Given the description of an element on the screen output the (x, y) to click on. 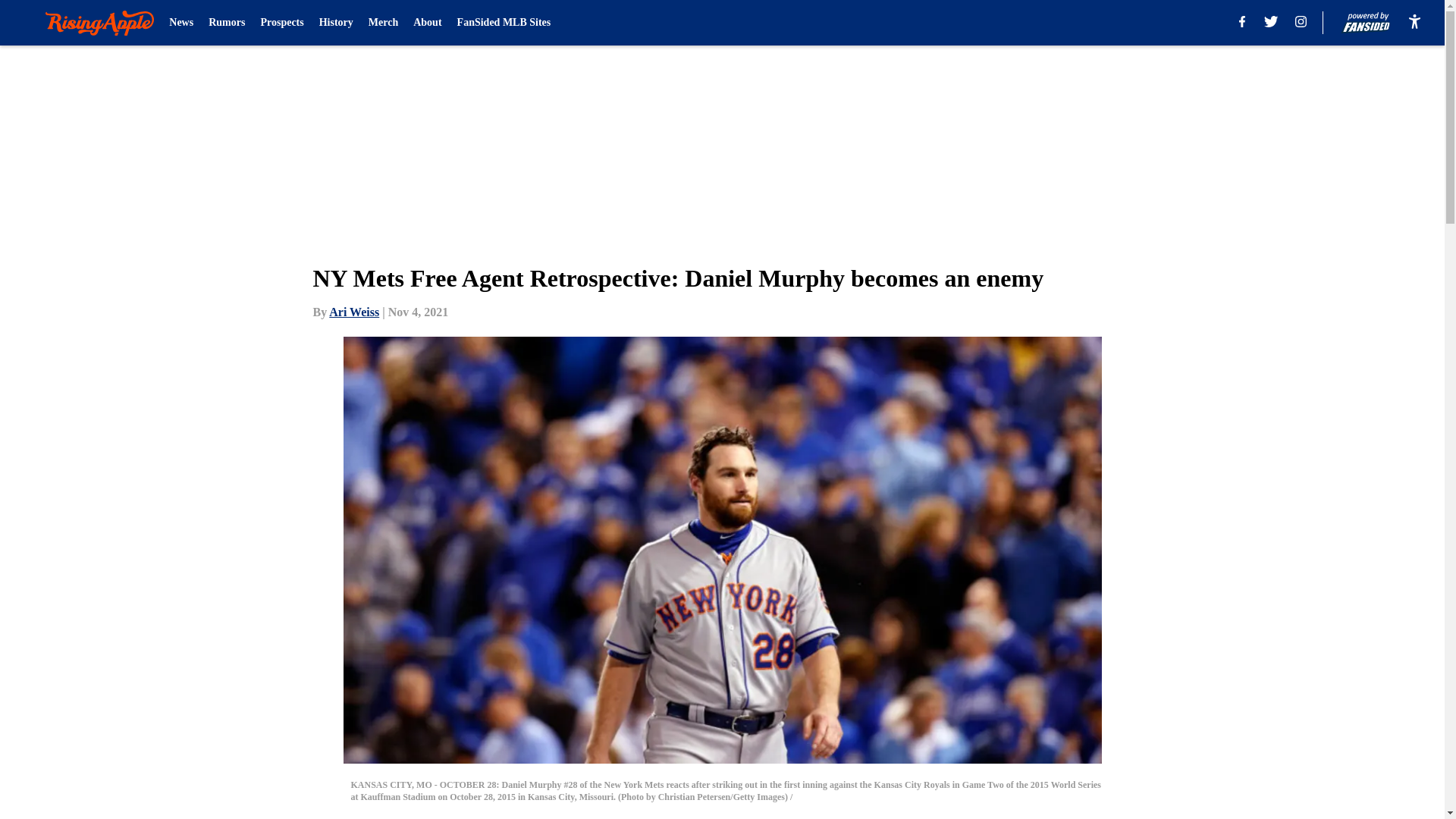
Merch (382, 22)
History (335, 22)
Rumors (226, 22)
News (180, 22)
FanSided MLB Sites (504, 22)
Ari Weiss (353, 311)
Prospects (281, 22)
About (427, 22)
